Given the description of an element on the screen output the (x, y) to click on. 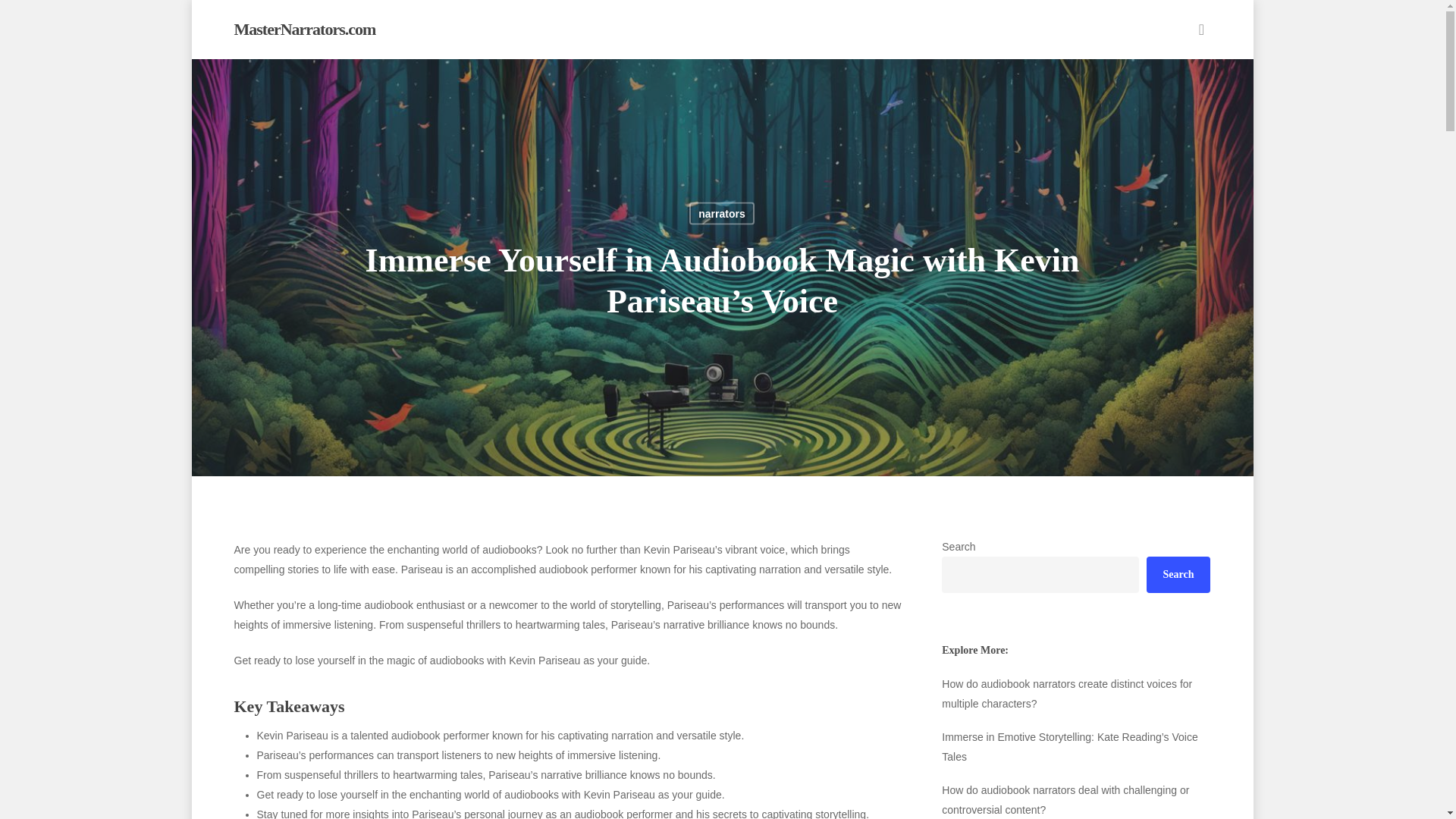
Search (1179, 574)
narrators (721, 212)
search (1200, 28)
MasterNarrators.com (303, 29)
